Given the description of an element on the screen output the (x, y) to click on. 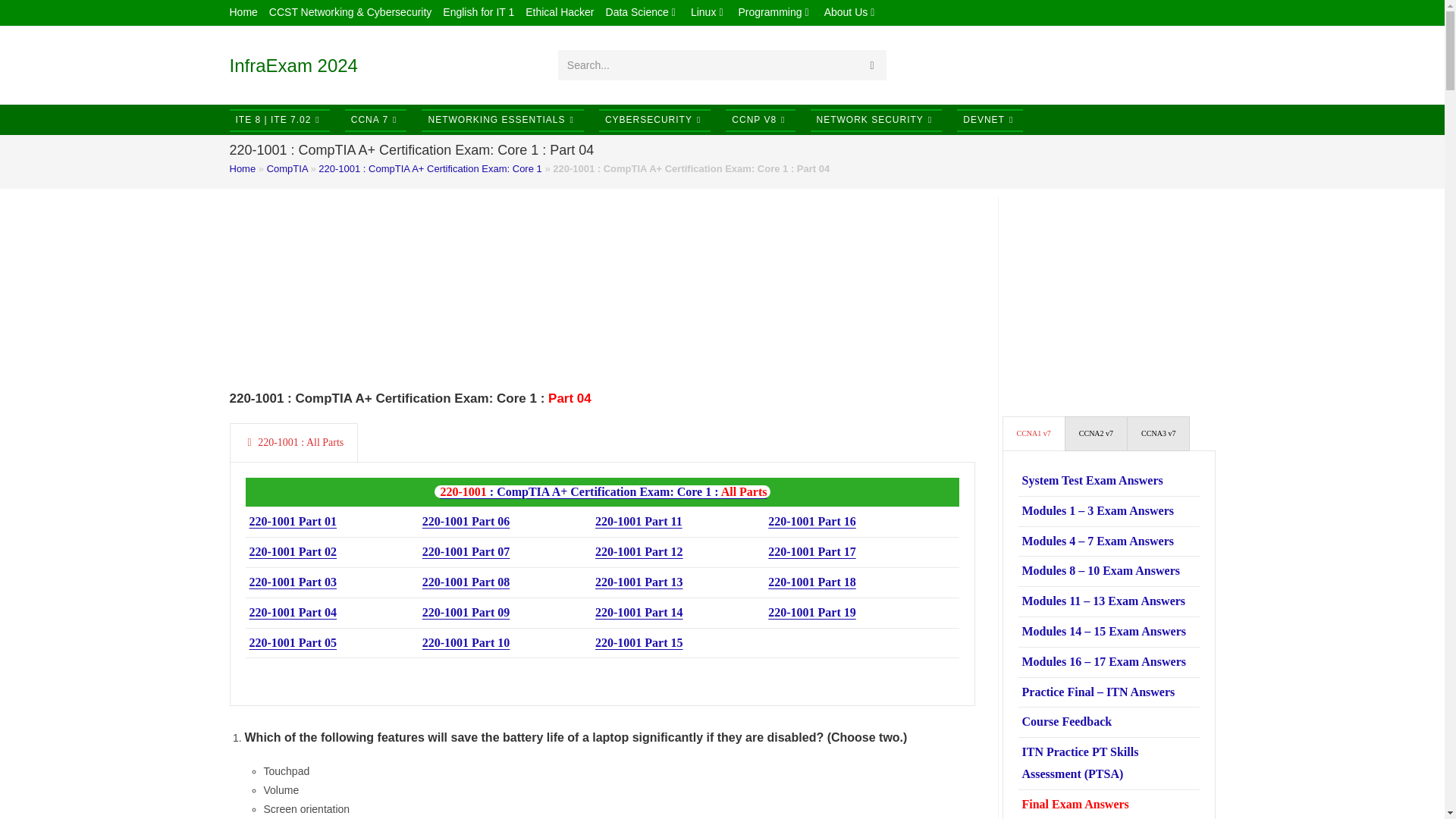
Data Science (642, 12)
CCNA 7 (375, 119)
Programming (775, 12)
InfraExam 2024 (292, 65)
English for IT 1 (477, 12)
Ethical Hacker (559, 12)
Submit search (871, 64)
Linux (708, 12)
About Us (851, 12)
Home (242, 12)
